Given the description of an element on the screen output the (x, y) to click on. 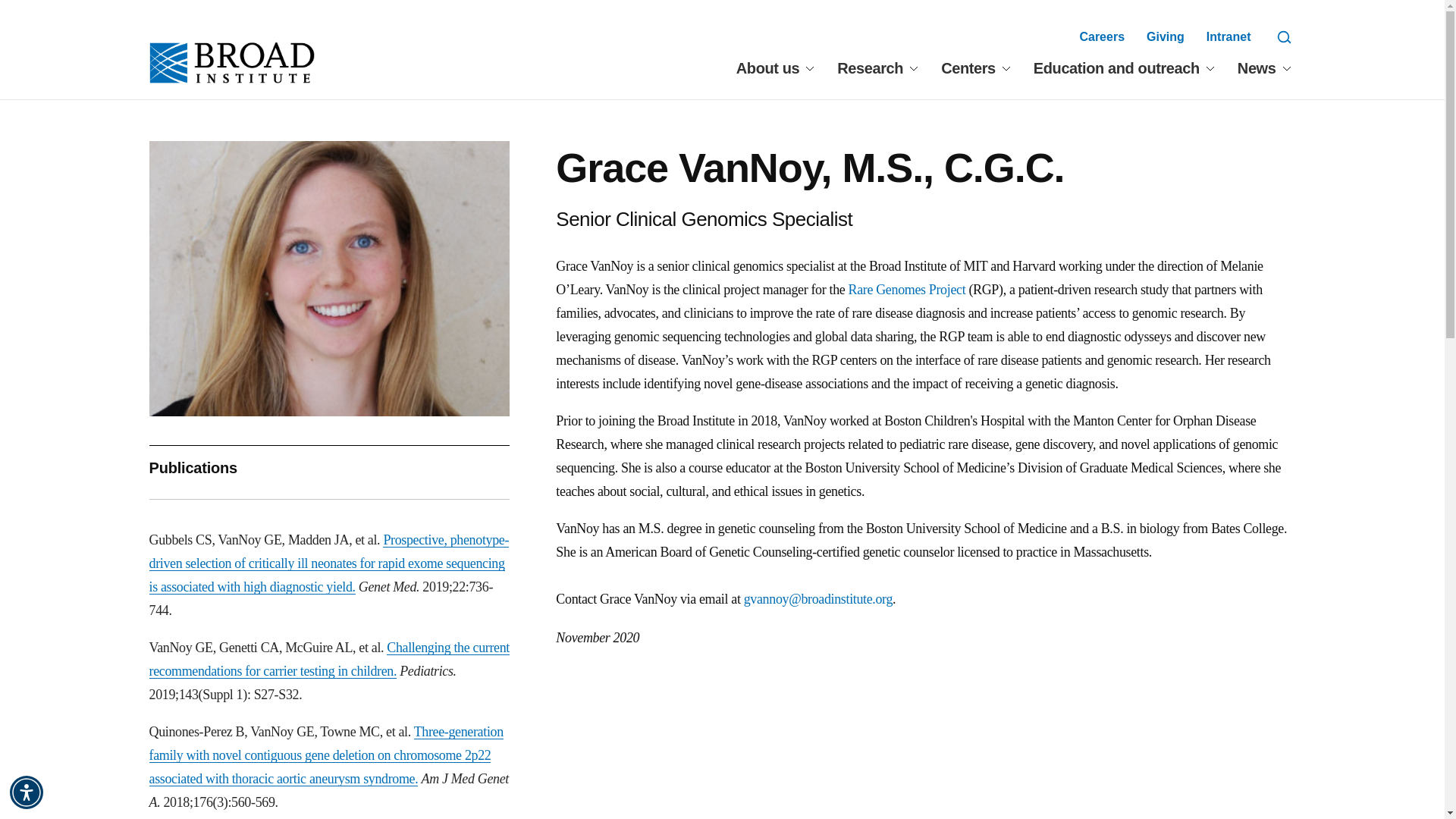
Intranet (1228, 36)
Giving (1166, 36)
Accessibility Menu (26, 792)
Careers (1101, 36)
Broad Institute Intranet (1228, 36)
